Given the description of an element on the screen output the (x, y) to click on. 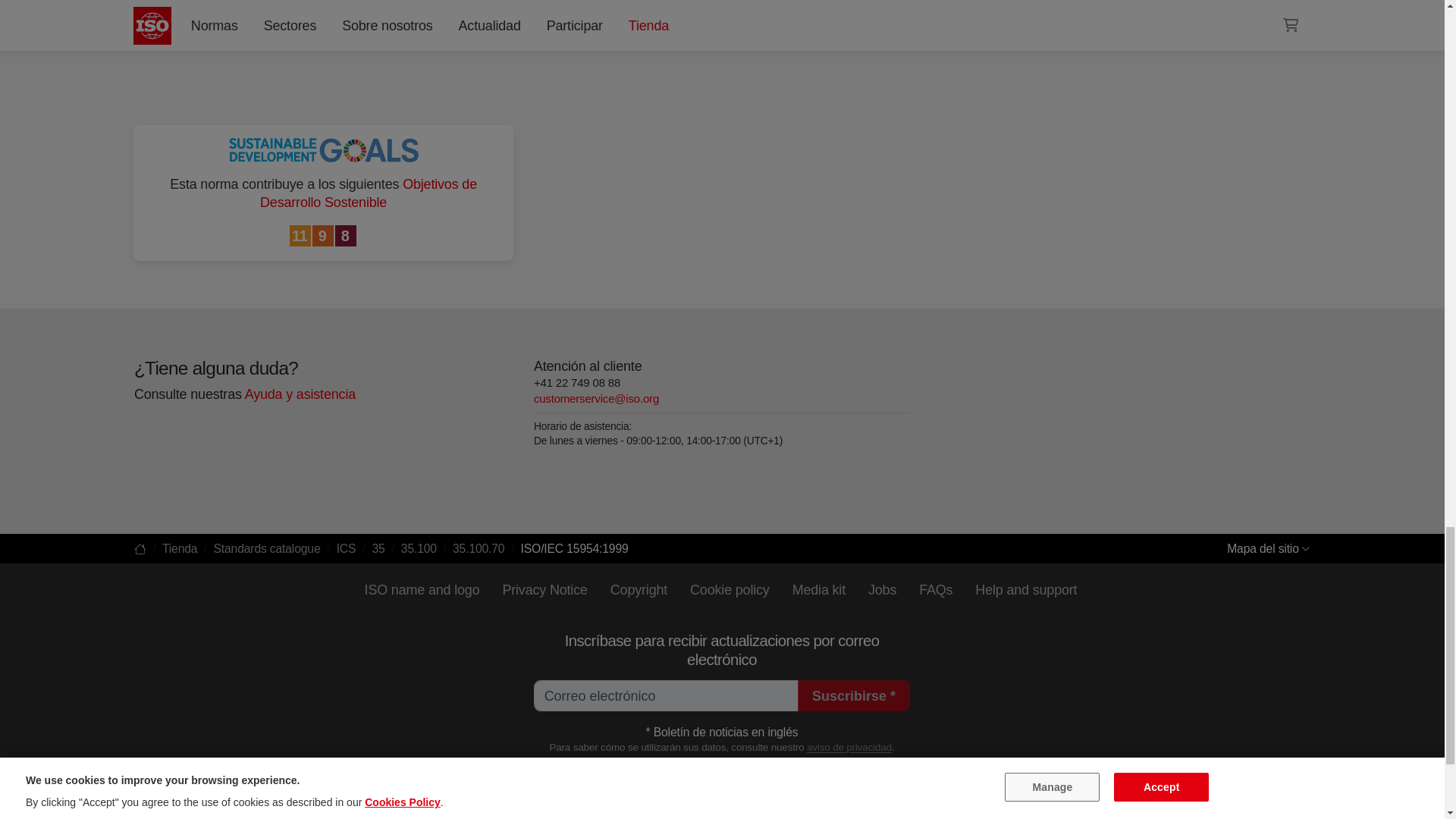
Sustainable Cities and Communities (301, 236)
